Given the description of an element on the screen output the (x, y) to click on. 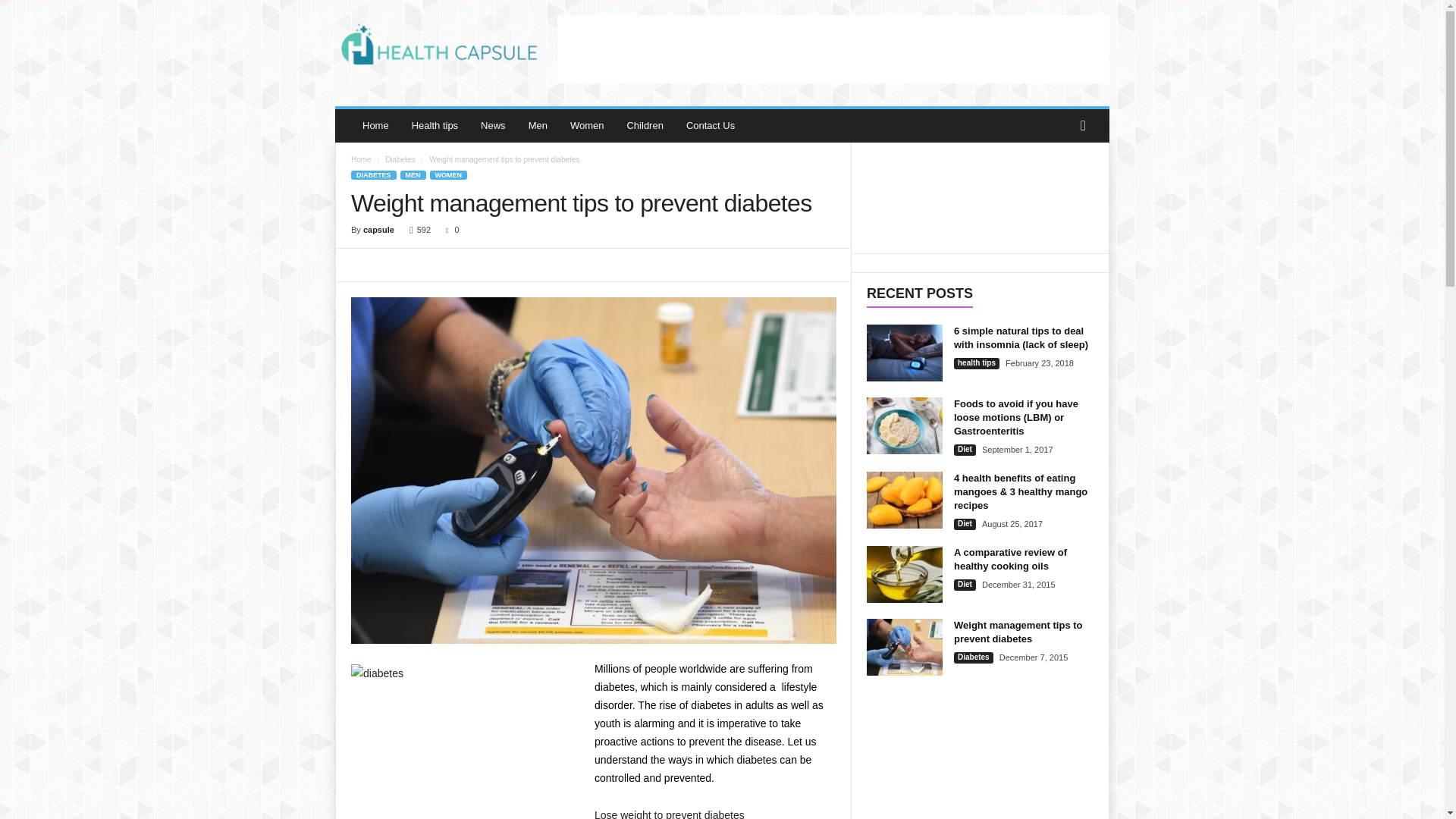
Children (644, 125)
DIABETES (373, 174)
Advertisement (833, 49)
Women (587, 125)
View all posts in Diabetes (399, 159)
capsule (378, 229)
News (492, 125)
Home (375, 125)
Contact Us (710, 125)
diabetes (464, 739)
Home (360, 159)
0 (448, 229)
WOMEN (448, 174)
MEN (413, 174)
Men (537, 125)
